Given the description of an element on the screen output the (x, y) to click on. 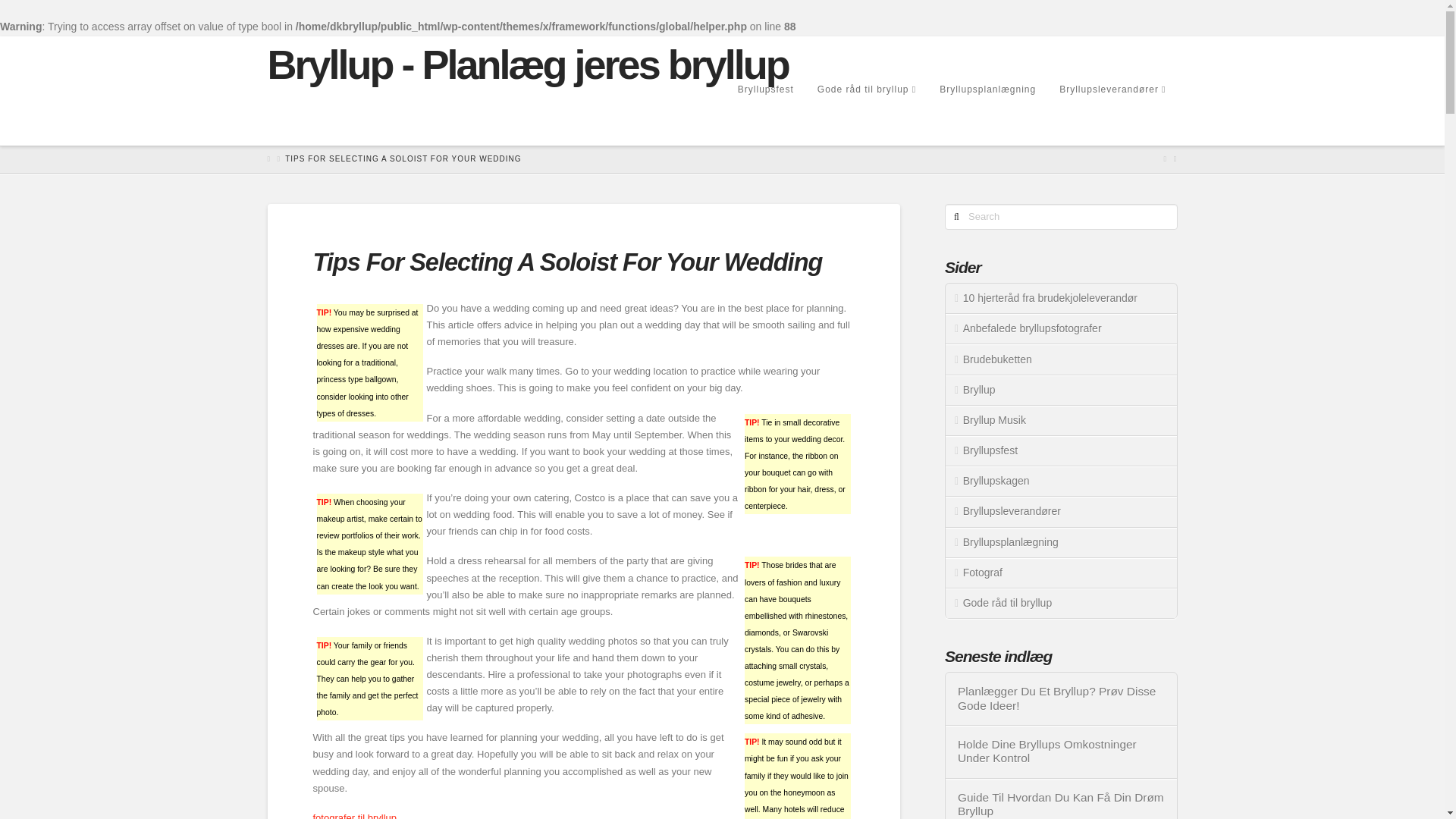
Anbefalede bryllupsfotografer (1060, 328)
Bryllup Musik (1060, 420)
Bryllupsfest (765, 115)
Fotograf (1060, 572)
Bryllup (1060, 390)
Endnu en WordPress-blog (526, 64)
fotografer til bryllup (354, 815)
Bryllupskagen (1060, 481)
Bryllupsfest (1060, 450)
Brudebuketten (1060, 358)
Holde Dine Bryllups Omkostninger Under Kontrol (1061, 751)
